Given the description of an element on the screen output the (x, y) to click on. 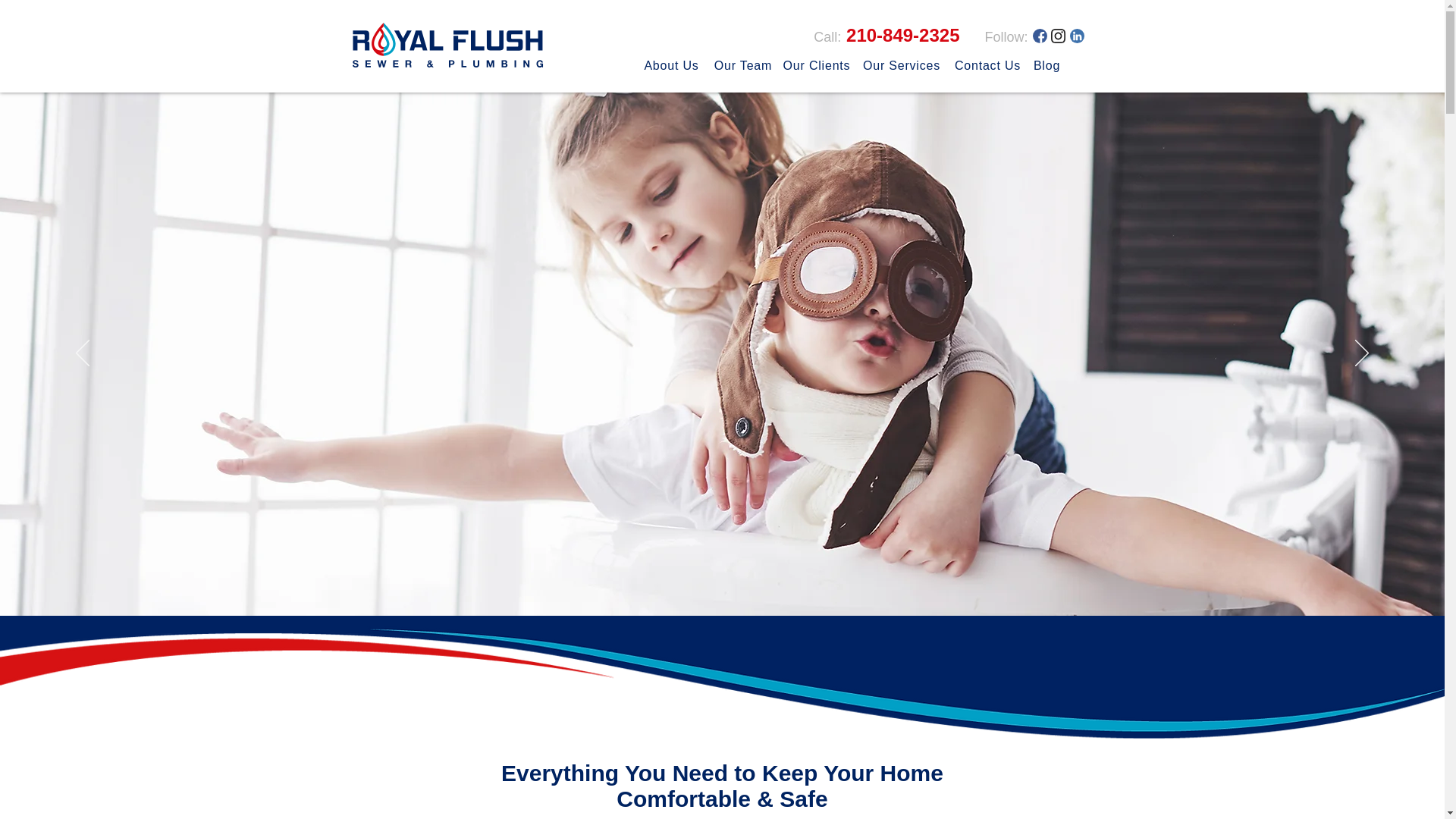
About Us (595, 79)
Our Services (902, 65)
Call: (827, 37)
Follow: (1005, 37)
Blog (1046, 65)
210-849-2325 (900, 35)
Our Team (742, 65)
About Us (656, 81)
Our Clients (816, 65)
Contact Us (987, 65)
About Us (671, 65)
